Given the description of an element on the screen output the (x, y) to click on. 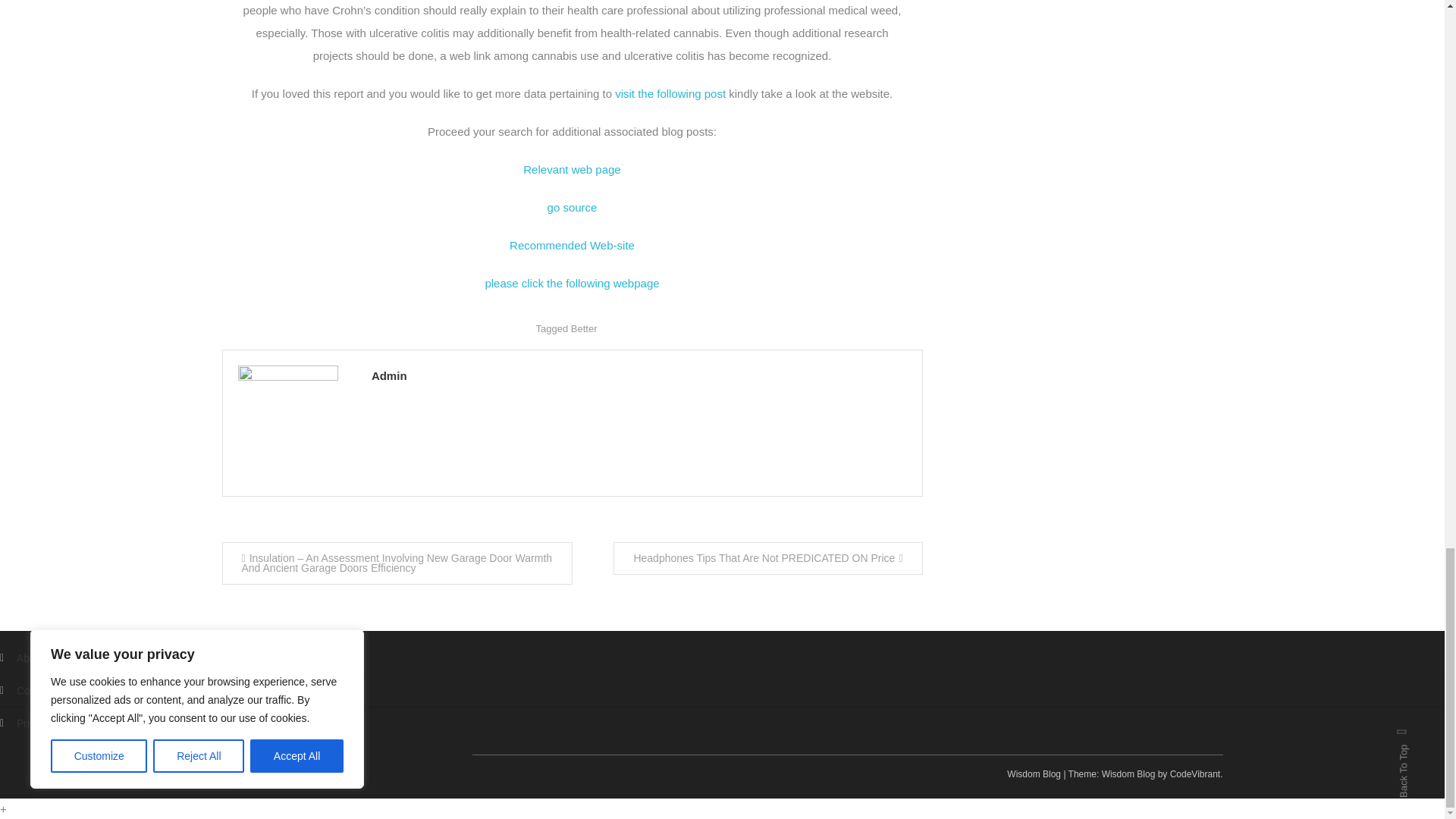
please click the following webpage (571, 282)
visit the following post (669, 92)
go source (571, 206)
Recommended Web-site (571, 245)
Admin (639, 375)
Better (583, 328)
Relevant web page (571, 169)
Headphones Tips That Are Not PREDICATED ON Price (766, 558)
